Given the description of an element on the screen output the (x, y) to click on. 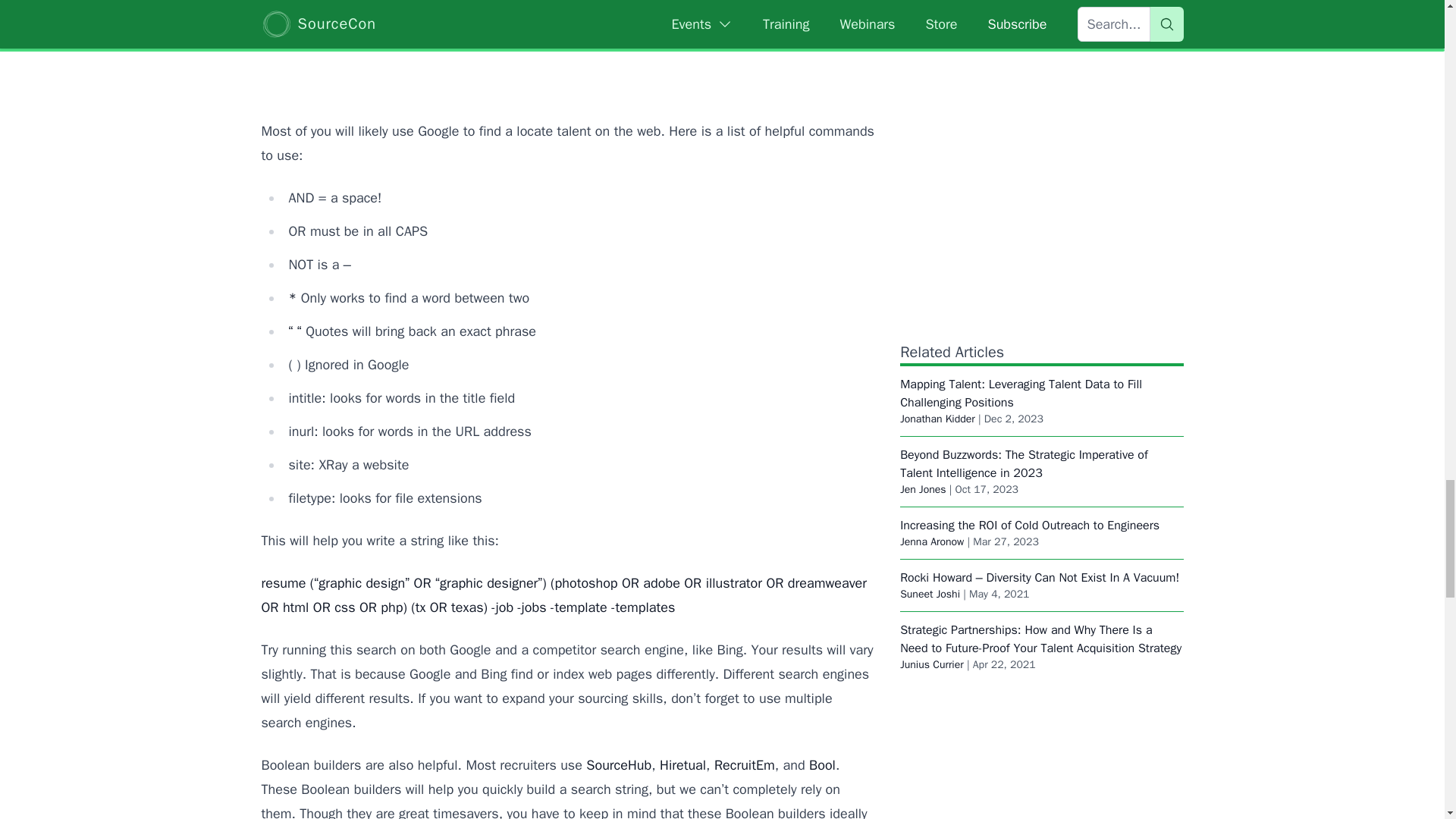
Hiretual (682, 764)
RecruitEm (744, 764)
SourceHub (618, 764)
Bool (822, 764)
